Given the description of an element on the screen output the (x, y) to click on. 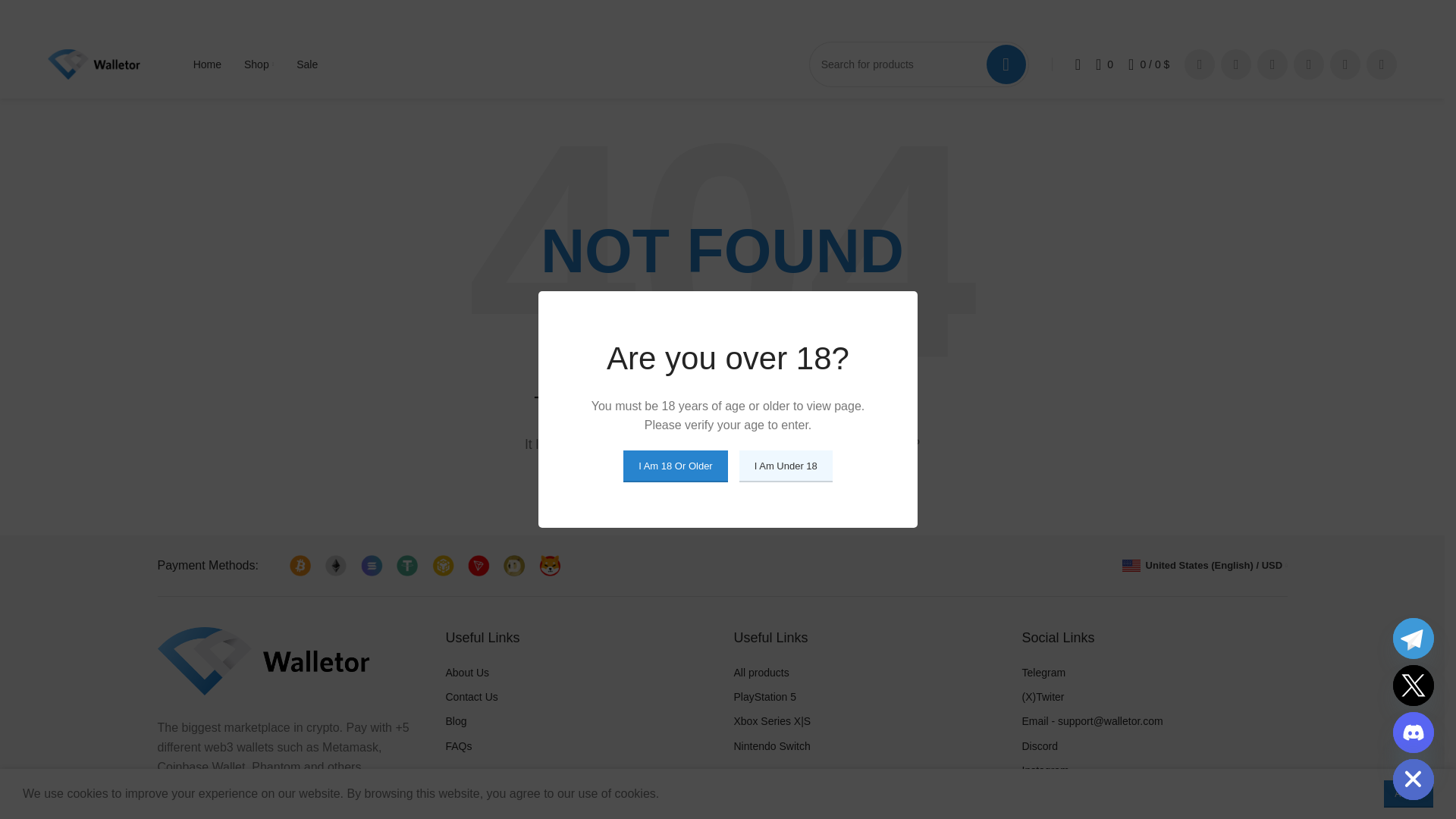
Search (855, 487)
0 (1104, 64)
Search (1006, 64)
wd-furniture-flag-usa (1131, 565)
Shopping cart (1148, 64)
Home (207, 64)
I Am 18 Or Older (675, 466)
Search for products (919, 63)
All products (258, 64)
I Am Under 18 (785, 466)
Shop (258, 64)
Search for posts (721, 487)
My Wishlist (1104, 64)
